Given the description of an element on the screen output the (x, y) to click on. 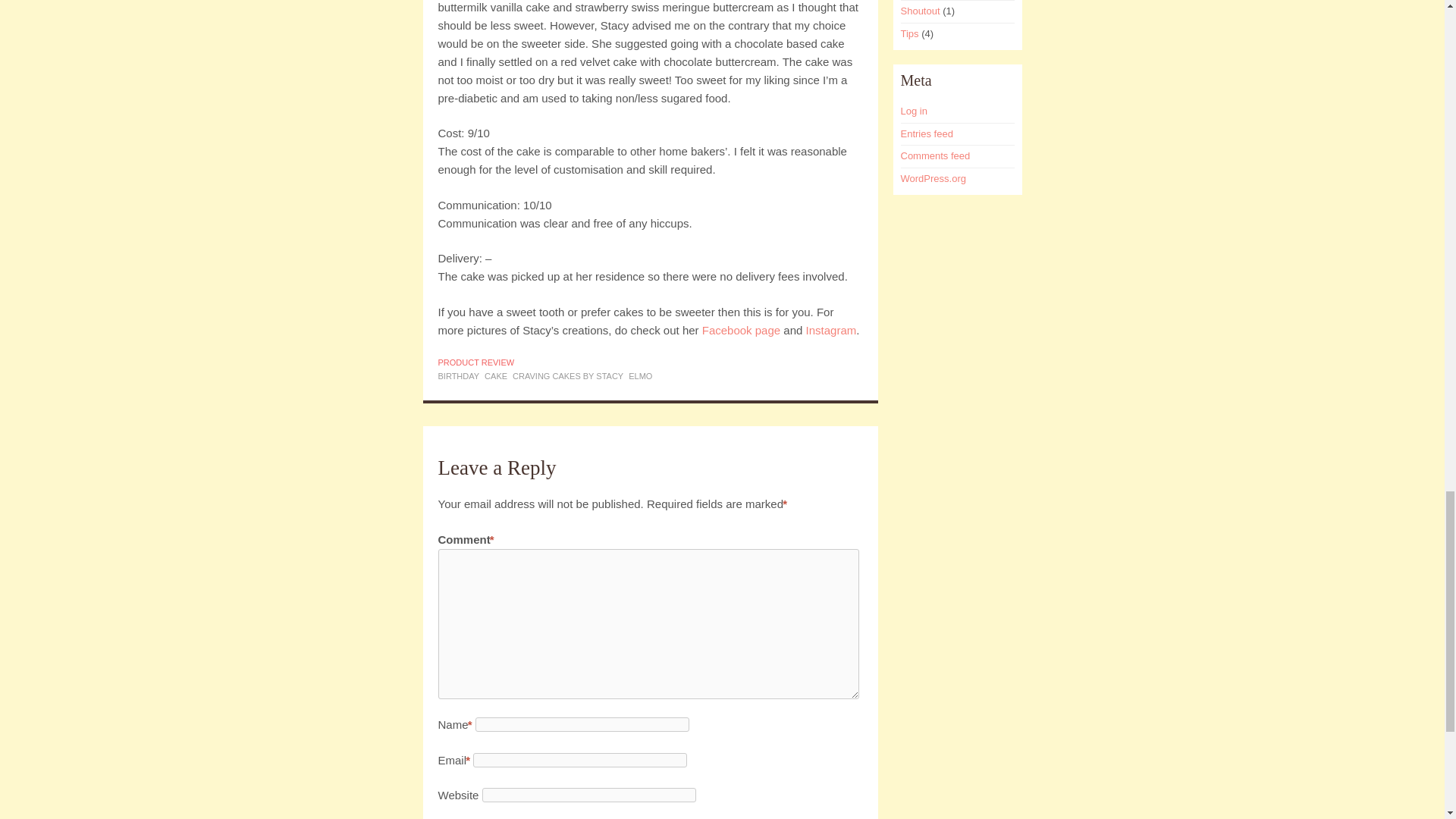
ELMO (640, 375)
Instagram (831, 329)
BIRTHDAY (459, 375)
CRAVING CAKES BY STACY (567, 375)
PRODUCT REVIEW (476, 361)
CAKE (495, 375)
Facebook page (740, 329)
